Given the description of an element on the screen output the (x, y) to click on. 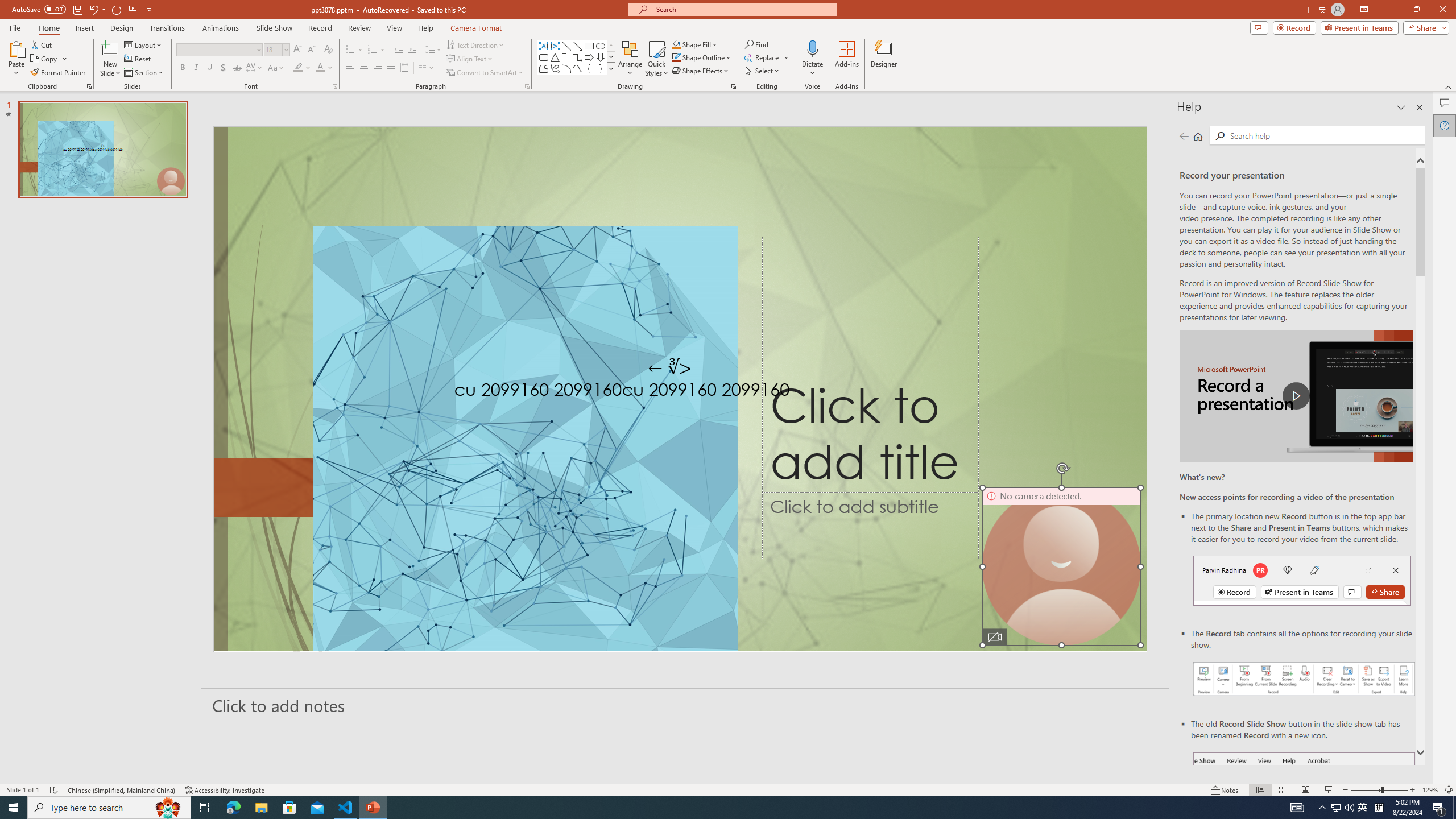
An abstract genetic concept (680, 388)
